Given the description of an element on the screen output the (x, y) to click on. 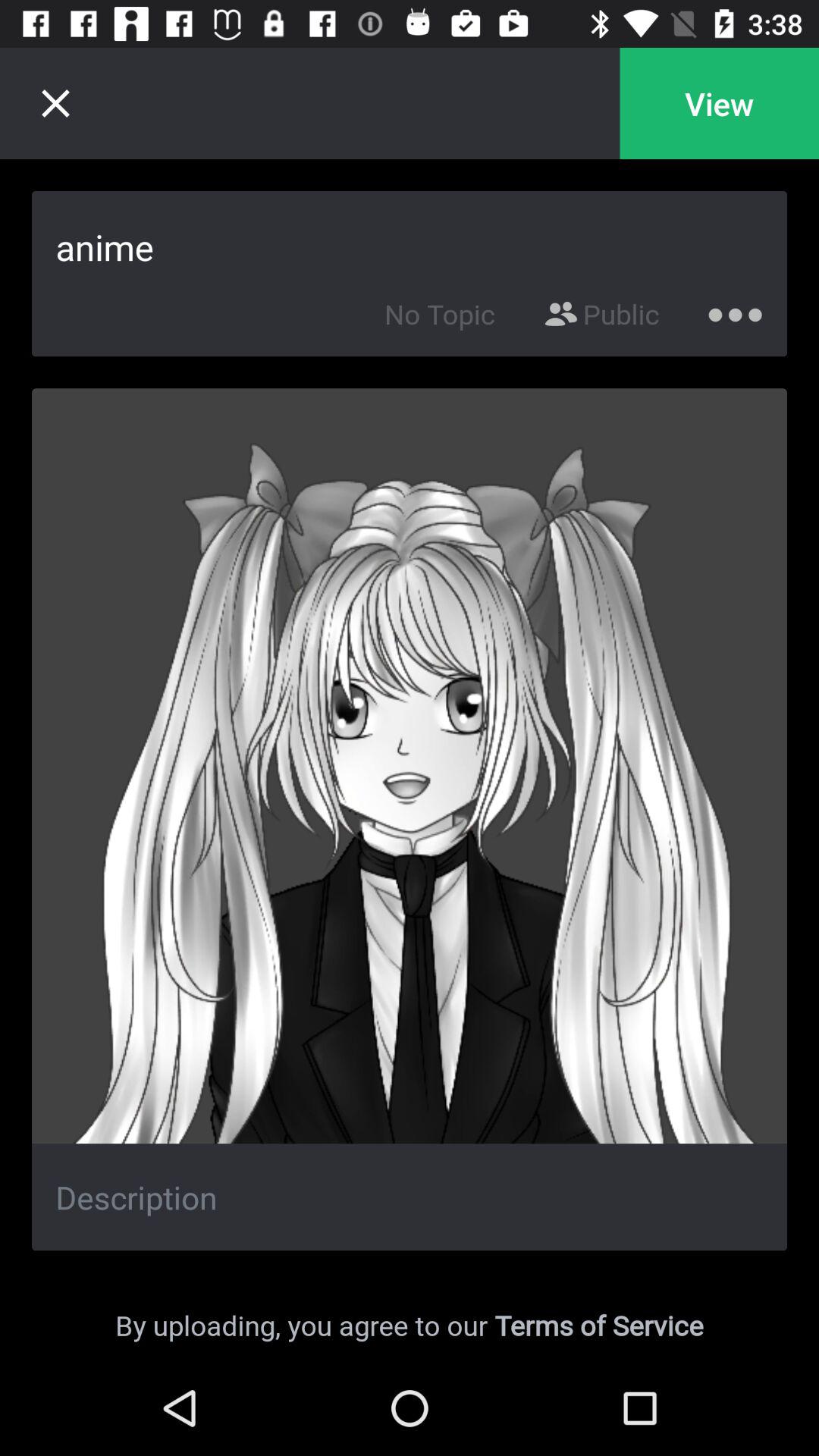
close (55, 103)
